Given the description of an element on the screen output the (x, y) to click on. 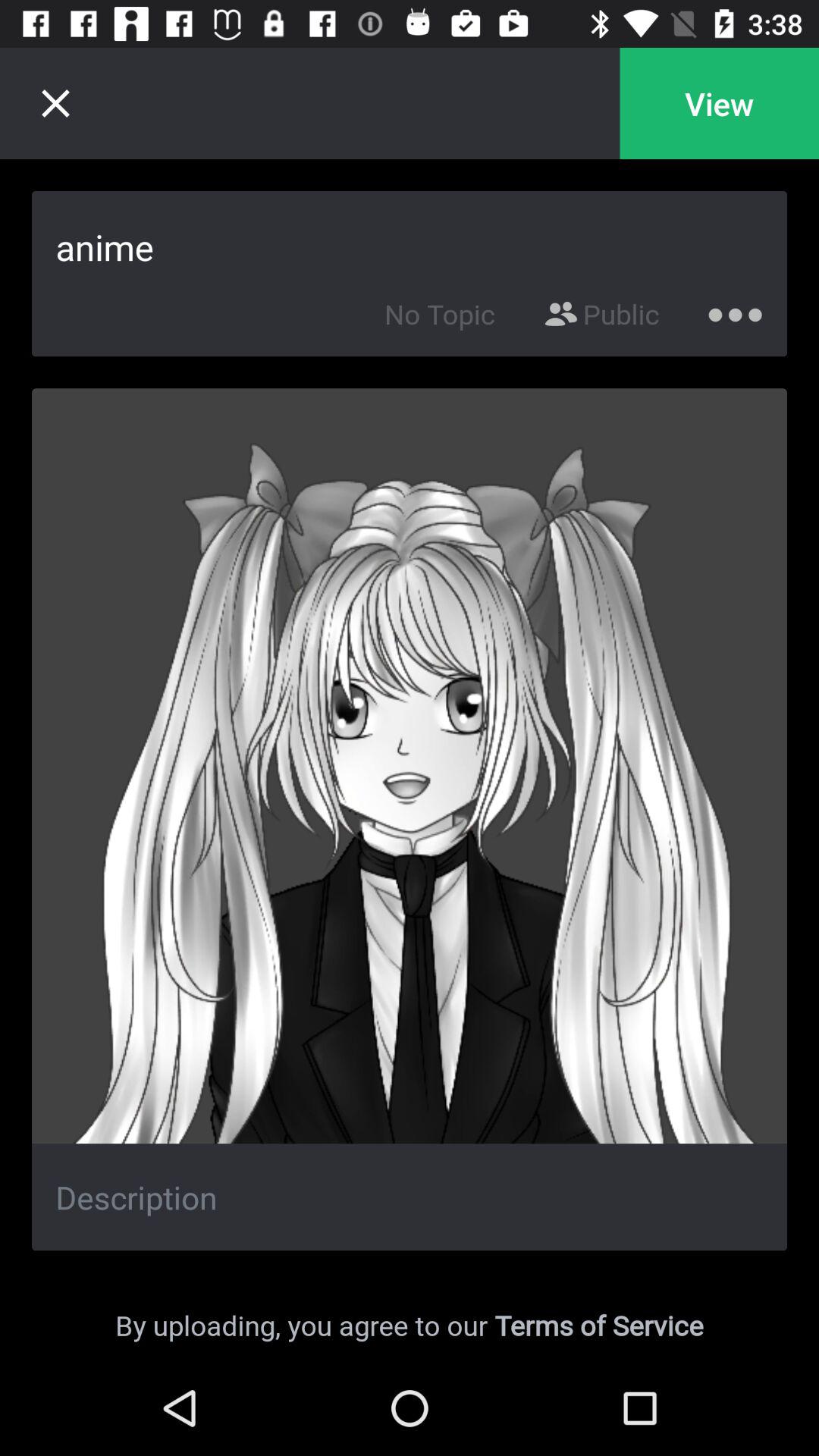
close (55, 103)
